Given the description of an element on the screen output the (x, y) to click on. 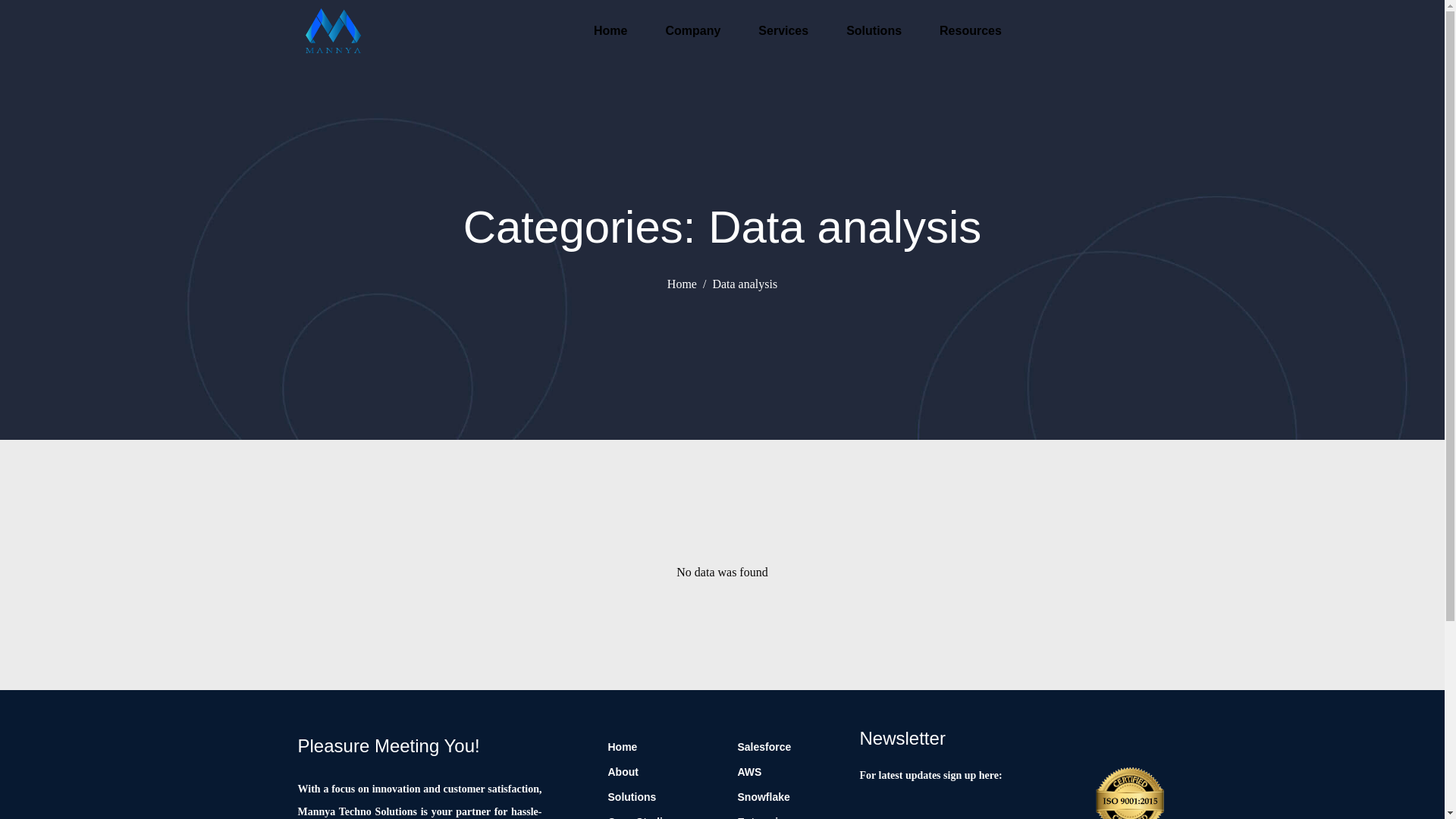
Home (610, 31)
Company (692, 31)
Services (783, 31)
